Given the description of an element on the screen output the (x, y) to click on. 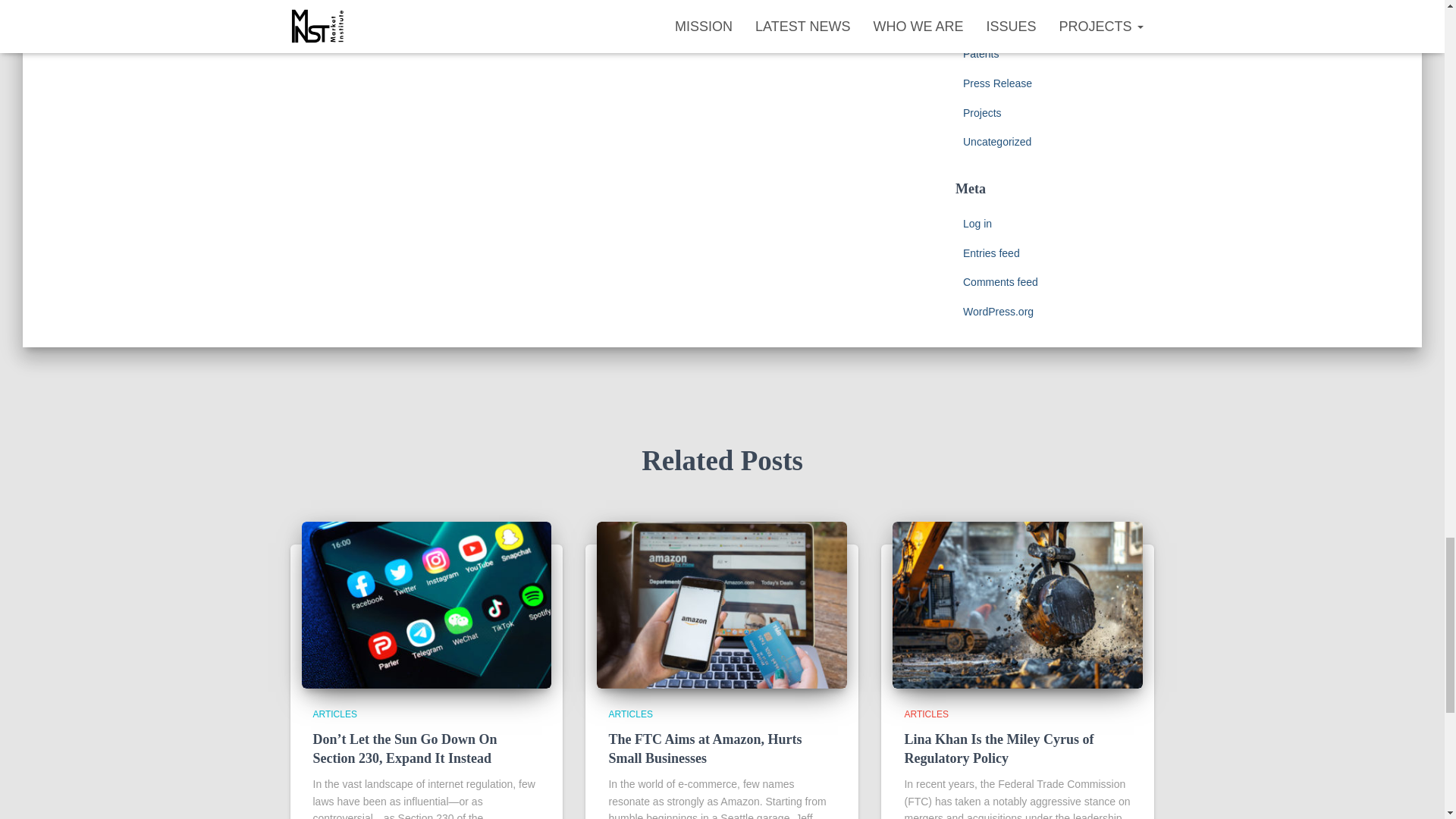
Lina Khan Is the Miley Cyrus of Regulatory Policy (1017, 604)
The FTC Aims at Amazon, Hurts Small Businesses (705, 748)
View all posts in Articles (630, 714)
View all posts in Articles (334, 714)
View all posts in Articles (925, 714)
Lina Khan Is the Miley Cyrus of Regulatory Policy (998, 748)
The FTC Aims at Amazon, Hurts Small Businesses (721, 604)
